Given the description of an element on the screen output the (x, y) to click on. 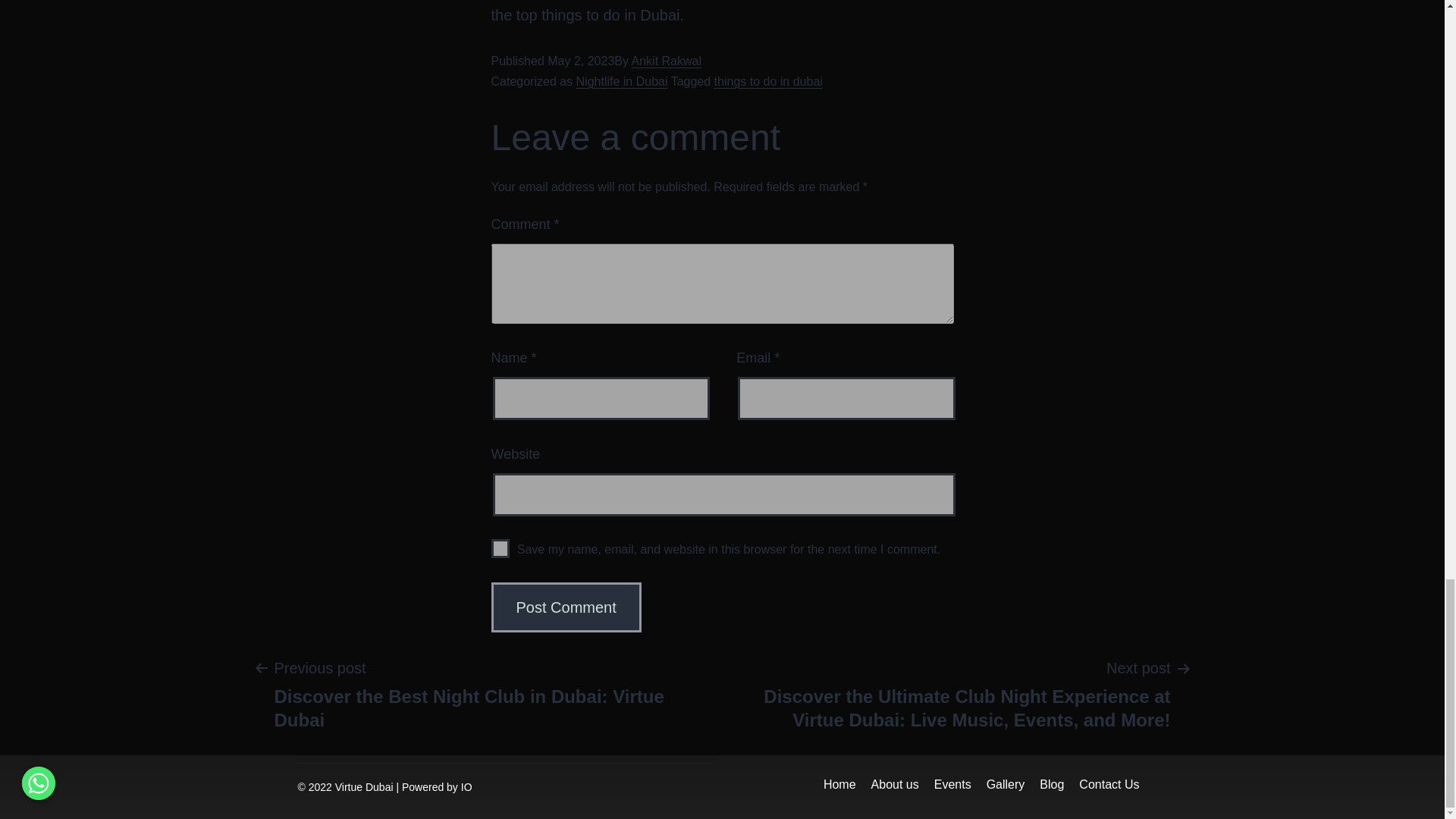
Ankit Rakwal (666, 60)
About us (894, 784)
things to do in dubai (768, 81)
Gallery (1005, 784)
Post Comment (567, 607)
Post Comment (567, 607)
Contact Us (1109, 784)
Nightlife in Dubai (622, 81)
Home (839, 784)
Blog (1051, 784)
yes (500, 547)
Events (952, 784)
